Given the description of an element on the screen output the (x, y) to click on. 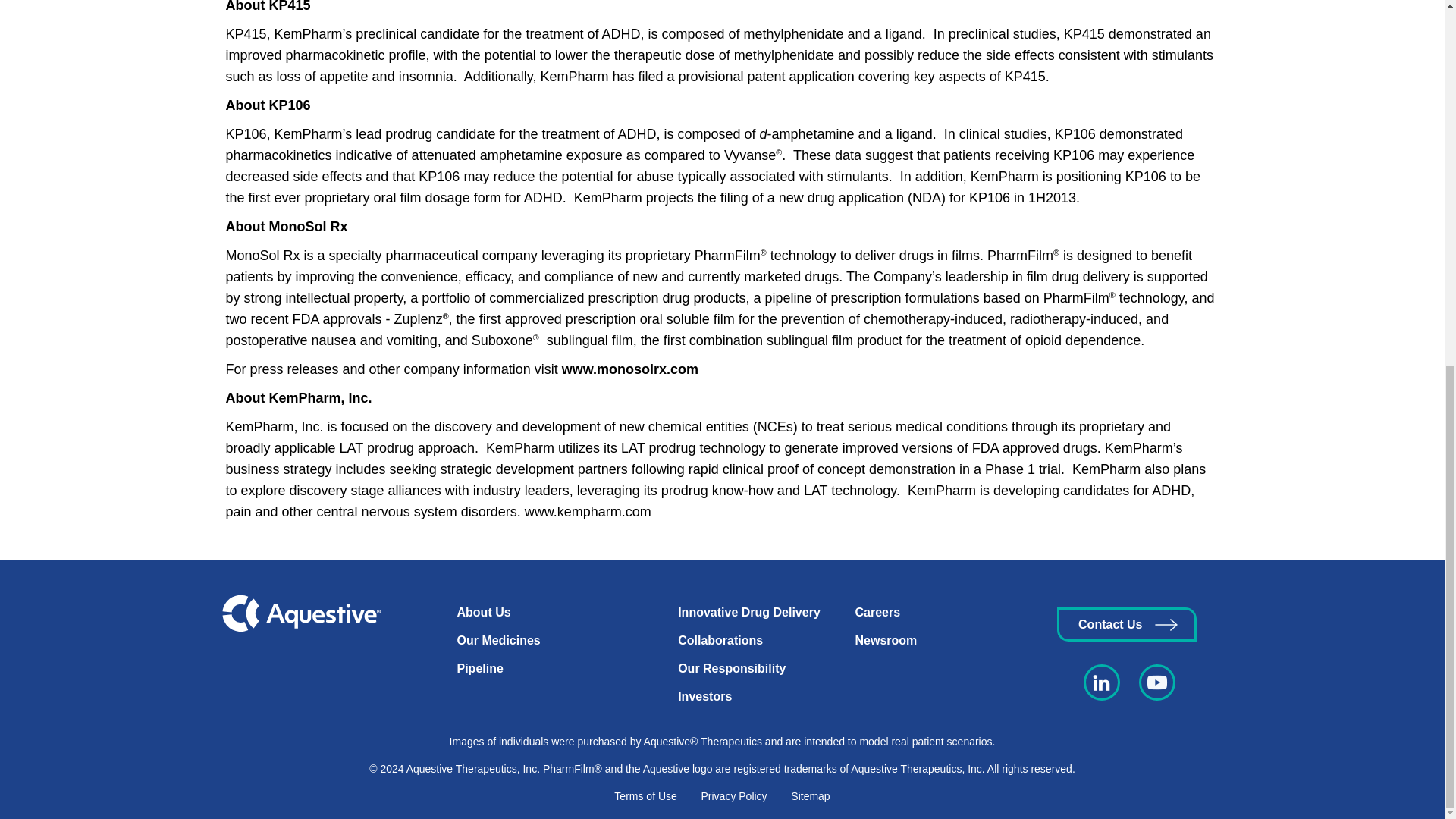
Visit Aquestive on LinkedIn (1101, 682)
Visit Aquestive on YouTube (1157, 682)
Aquestive Therapeutics (300, 613)
